Given the description of an element on the screen output the (x, y) to click on. 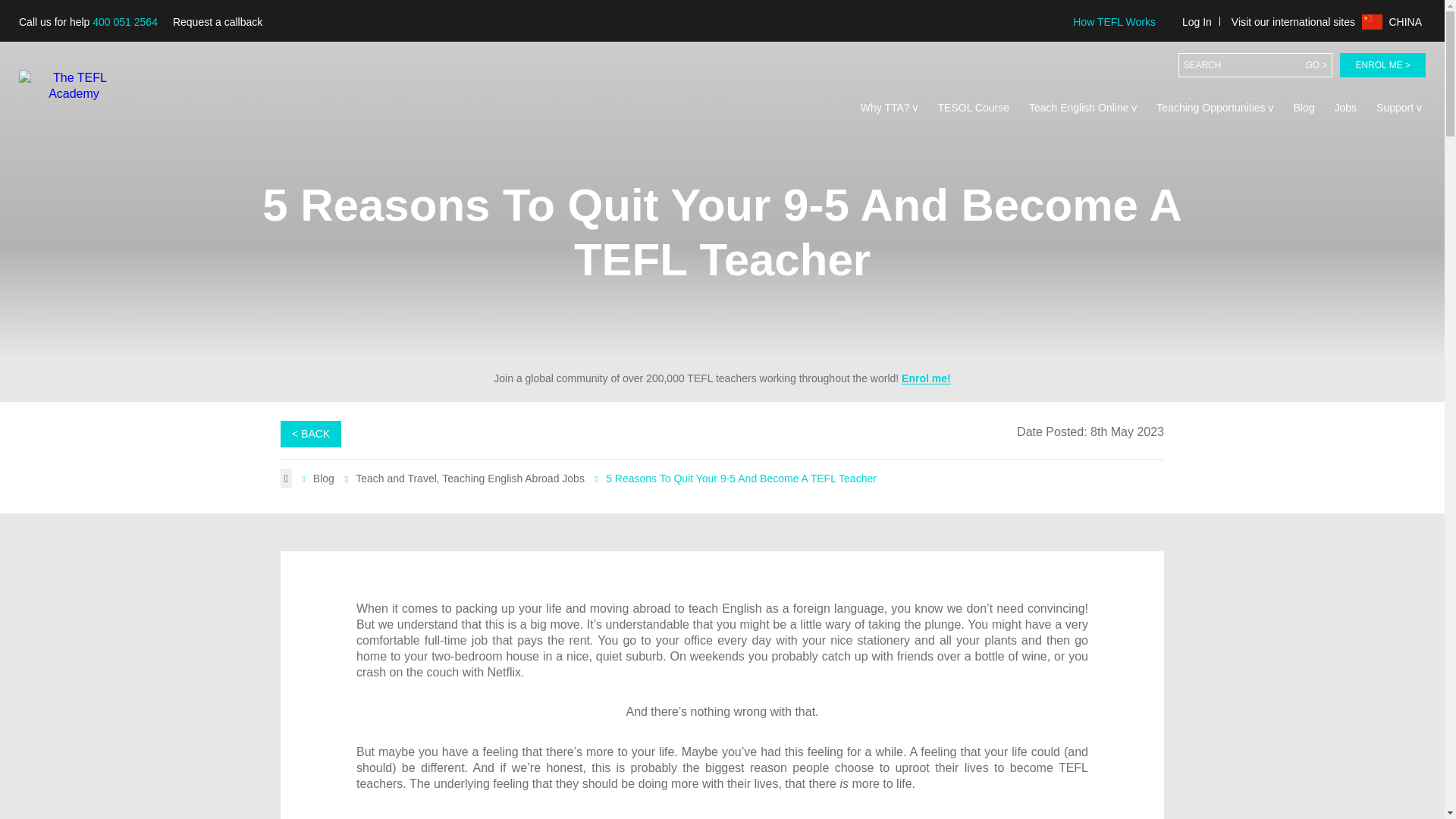
How TEFL Works (1113, 20)
Teach English Online v (1082, 107)
Log In (1196, 20)
Visit our international sites CHINA (1326, 20)
Request a callback (217, 22)
Why TTA? v (889, 107)
Teaching Opportunities v (1214, 107)
Log In (1196, 20)
400 051 2564 (125, 21)
Why TTA? (889, 107)
